Given the description of an element on the screen output the (x, y) to click on. 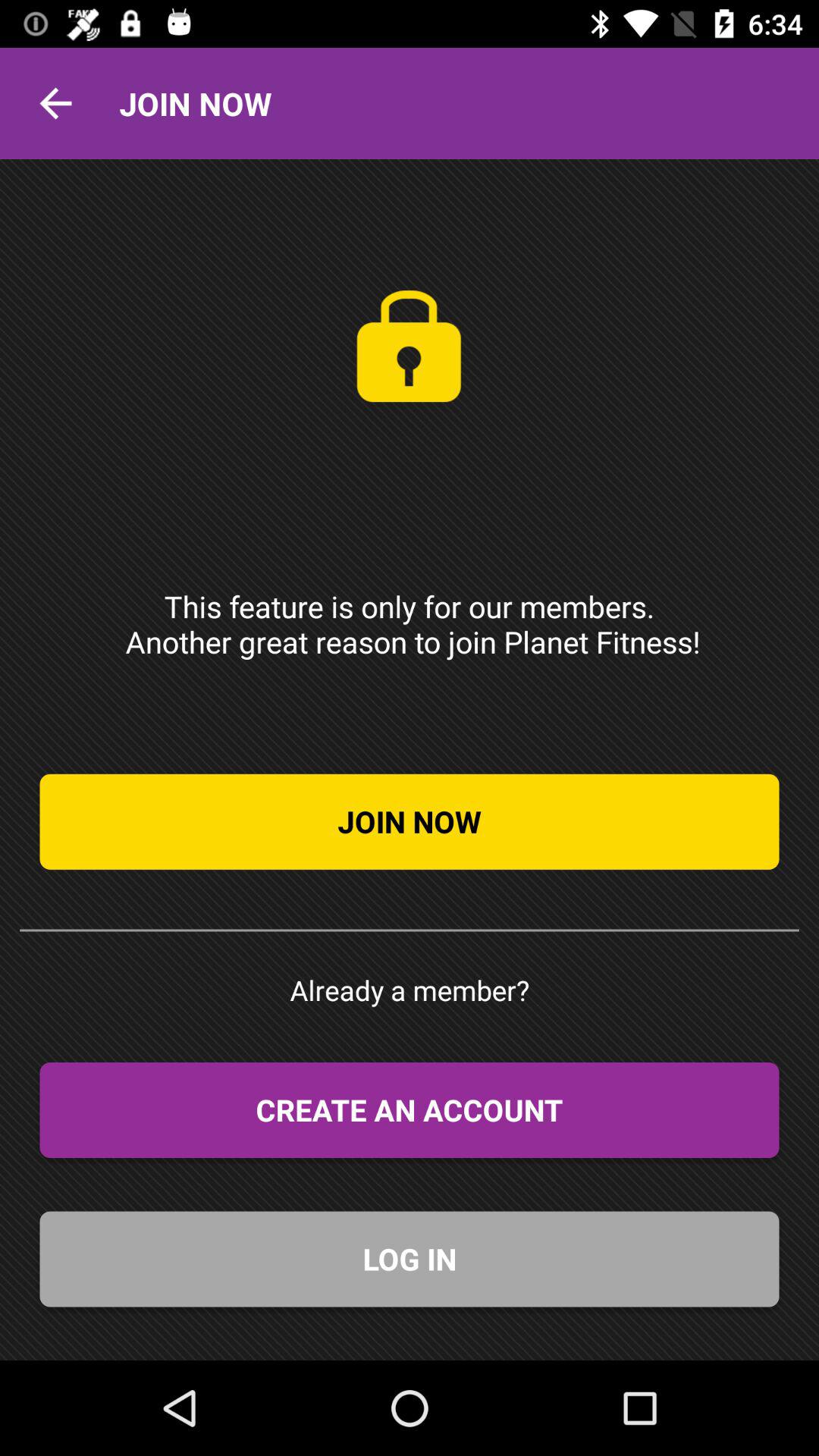
choose the create an account (409, 1109)
